Given the description of an element on the screen output the (x, y) to click on. 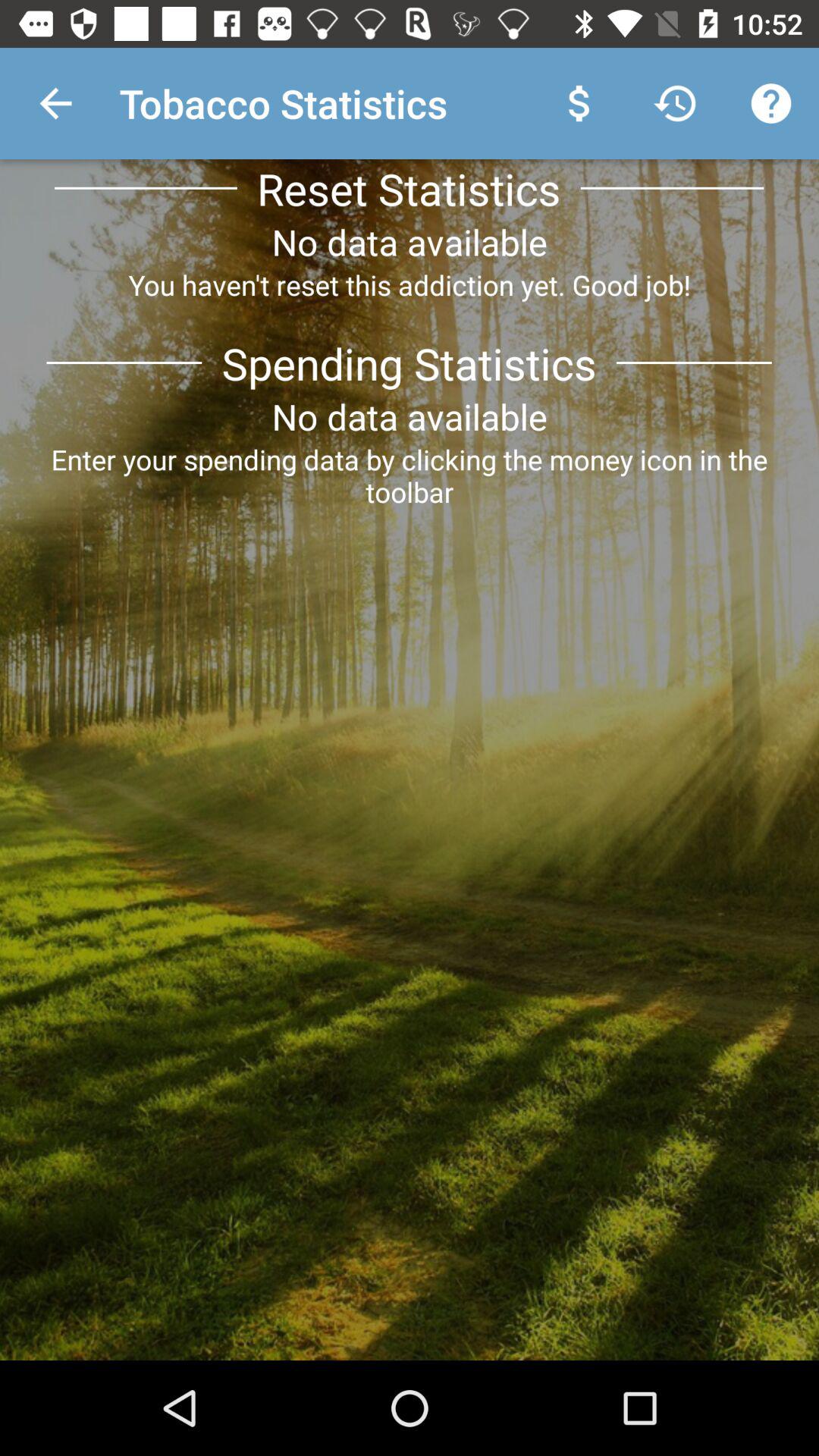
press the item next to the tobacco statistics icon (55, 103)
